Given the description of an element on the screen output the (x, y) to click on. 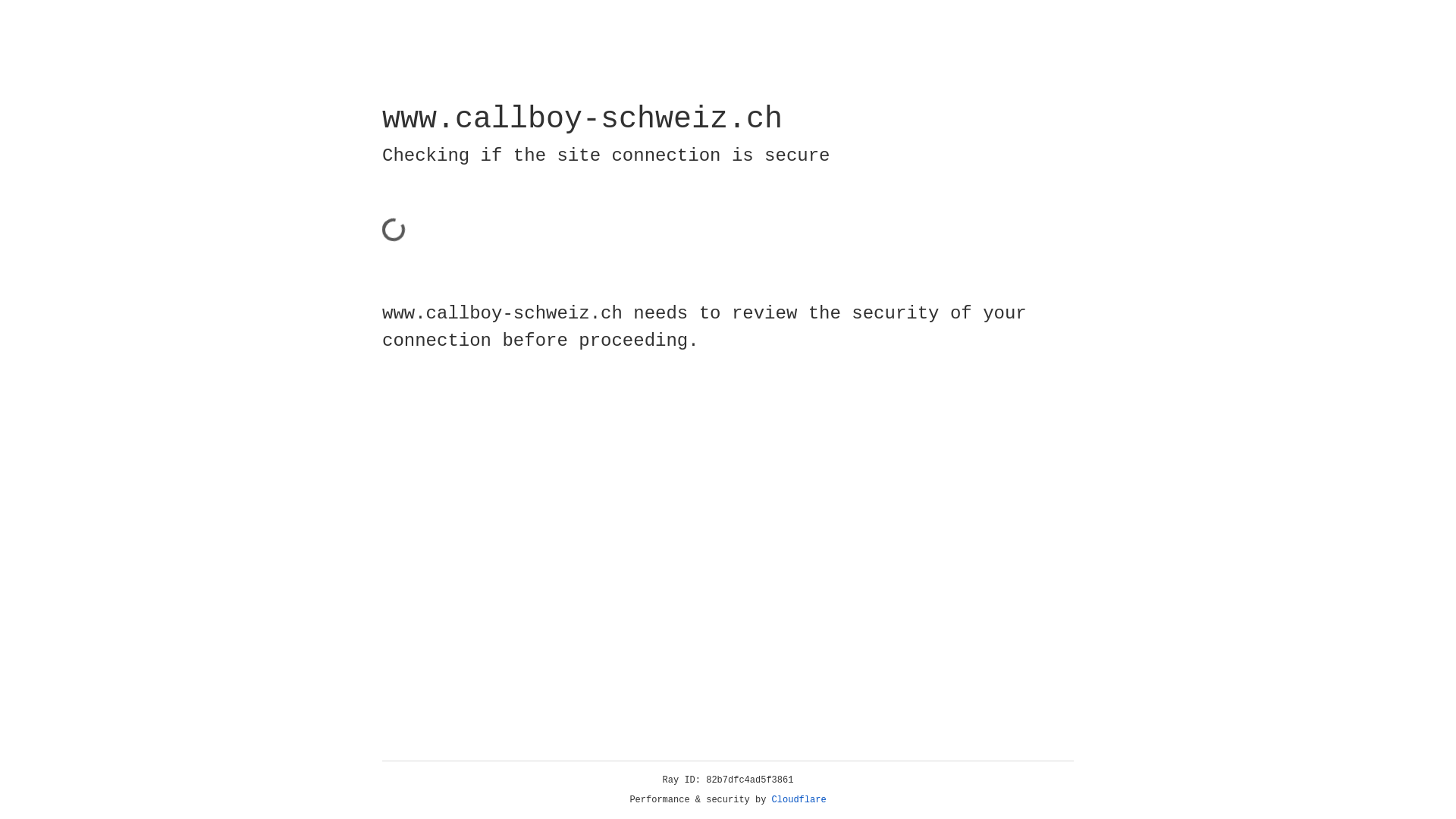
Cloudflare Element type: text (798, 799)
